Given the description of an element on the screen output the (x, y) to click on. 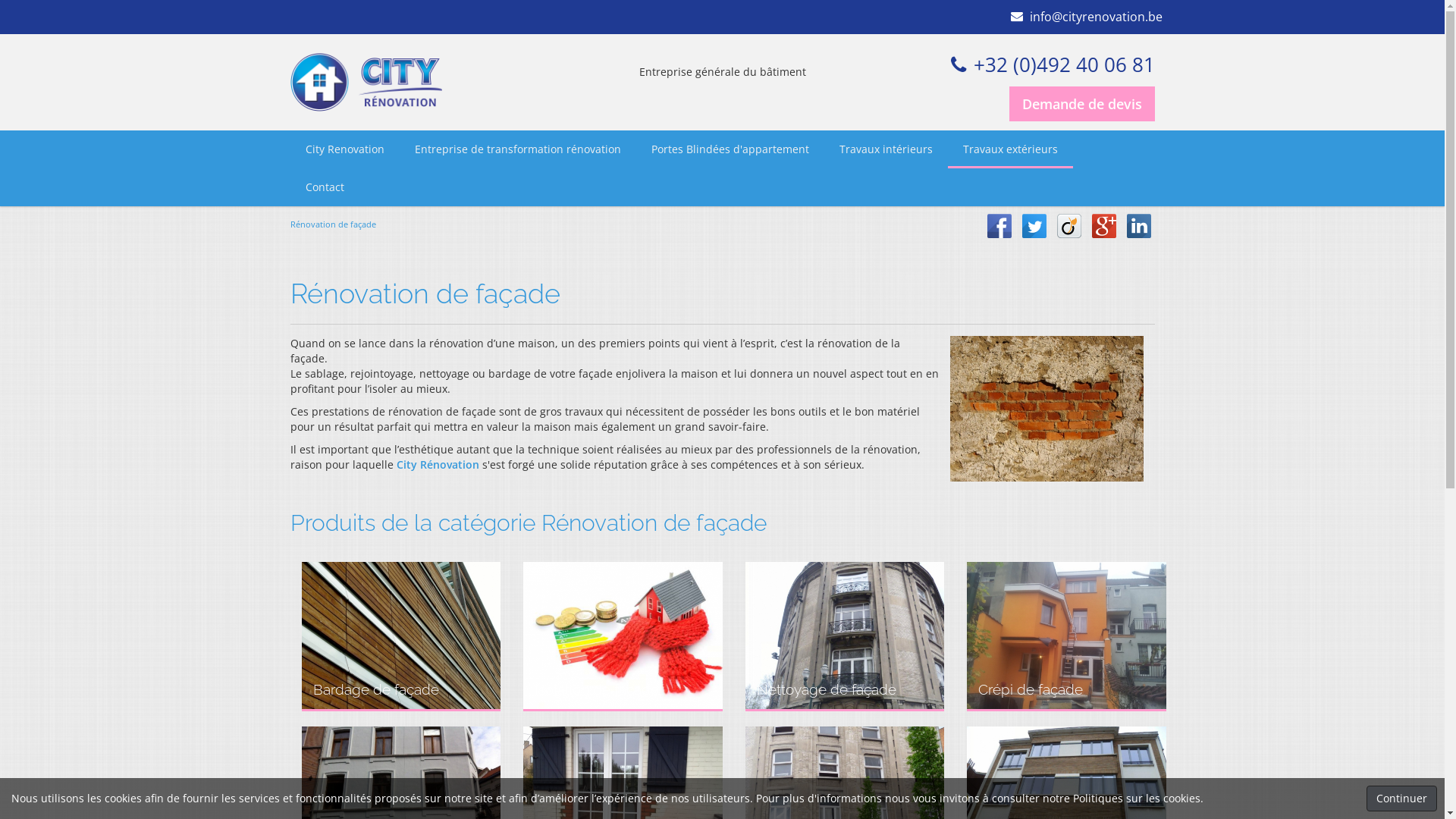
Accueil Element type: hover (366, 81)
Contact Element type: text (323, 187)
City Renovation Element type: text (343, 149)
Demande de devis Element type: text (1081, 103)
Continuer Element type: text (1401, 798)
Partager sur Linkedin Element type: hover (1138, 224)
info@cityrenovation.be Element type: text (1095, 16)
Partager sur Facebook Element type: hover (999, 224)
Partager sur Twitter Element type: hover (1034, 224)
Partager sur Google Element type: hover (1104, 224)
Politiques sur les cookies Element type: text (1136, 797)
Partager sur Viadeo Element type: hover (1069, 224)
